Given the description of an element on the screen output the (x, y) to click on. 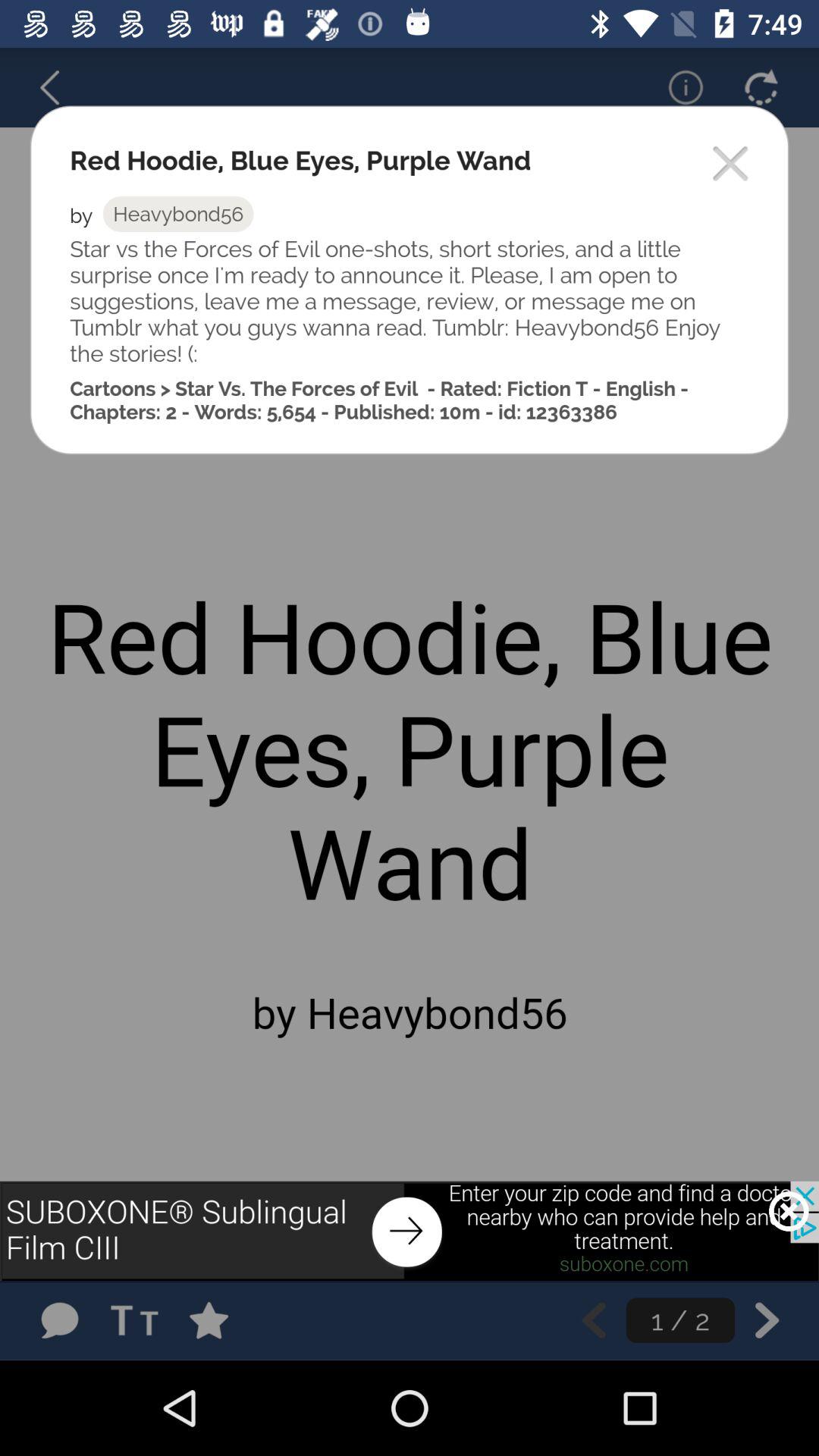
close out advertisement (788, 1211)
